Given the description of an element on the screen output the (x, y) to click on. 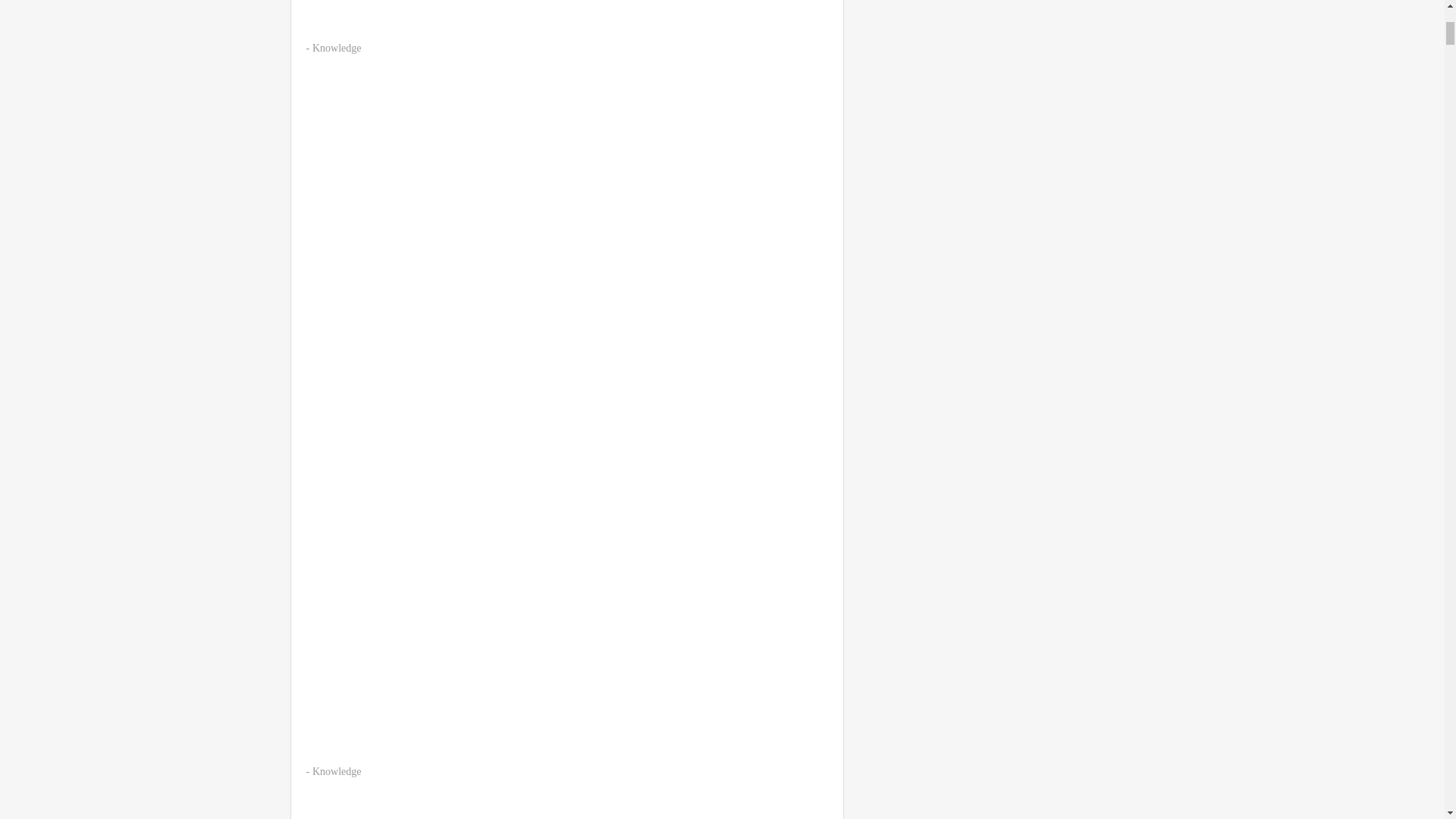
Knowledge (337, 48)
Knowledge (337, 771)
